Given the description of an element on the screen output the (x, y) to click on. 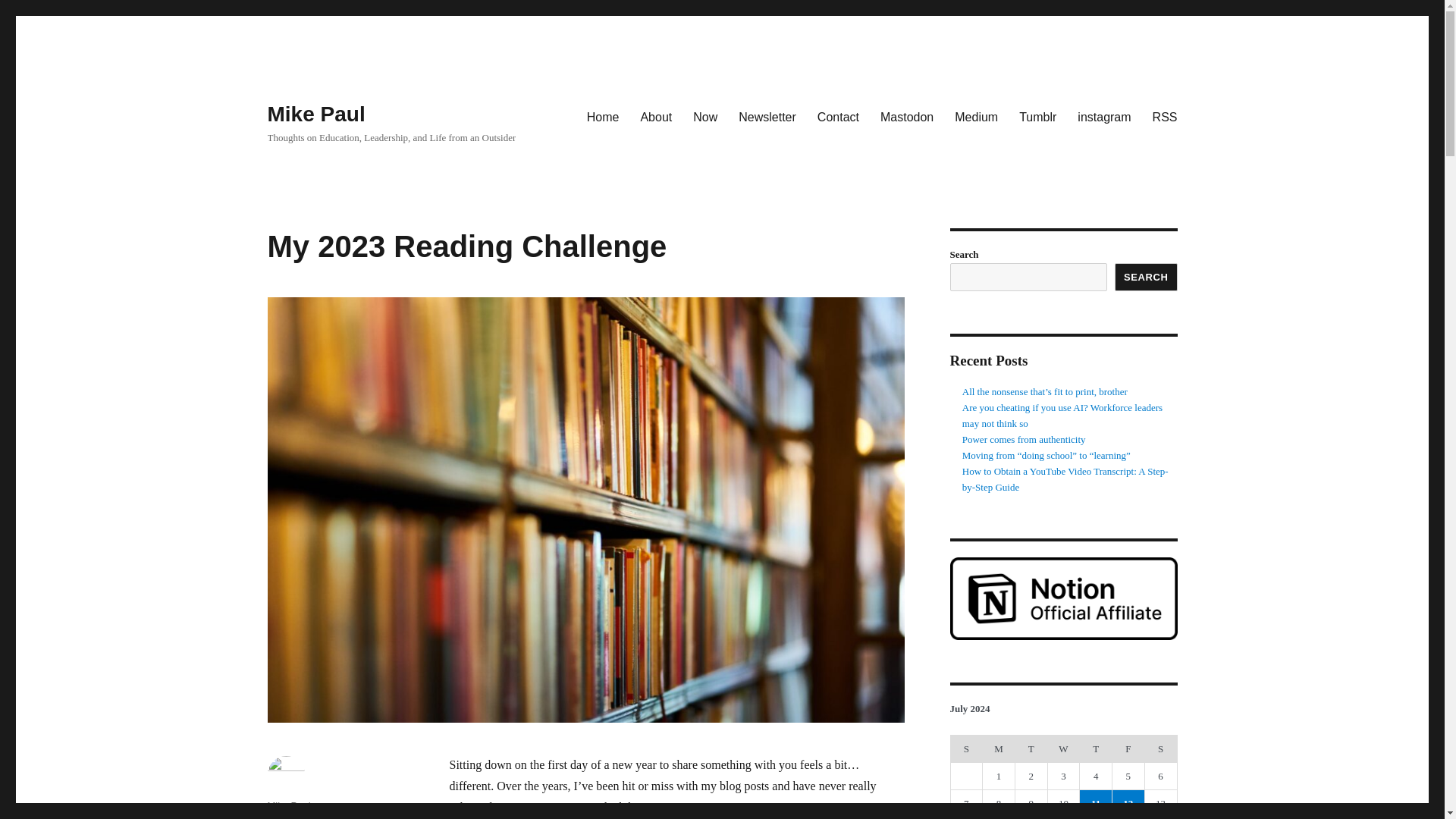
Thursday (1096, 748)
instagram (1104, 116)
Mastodon (906, 116)
Wednesday (1063, 748)
Newsletter (767, 116)
Saturday (1160, 748)
Home (603, 116)
Tuesday (1030, 748)
Mike Paul (288, 805)
Tumblr (1038, 116)
Mike Paul (315, 114)
Medium (976, 116)
Contact (837, 116)
About (655, 116)
Sunday (966, 748)
